Given the description of an element on the screen output the (x, y) to click on. 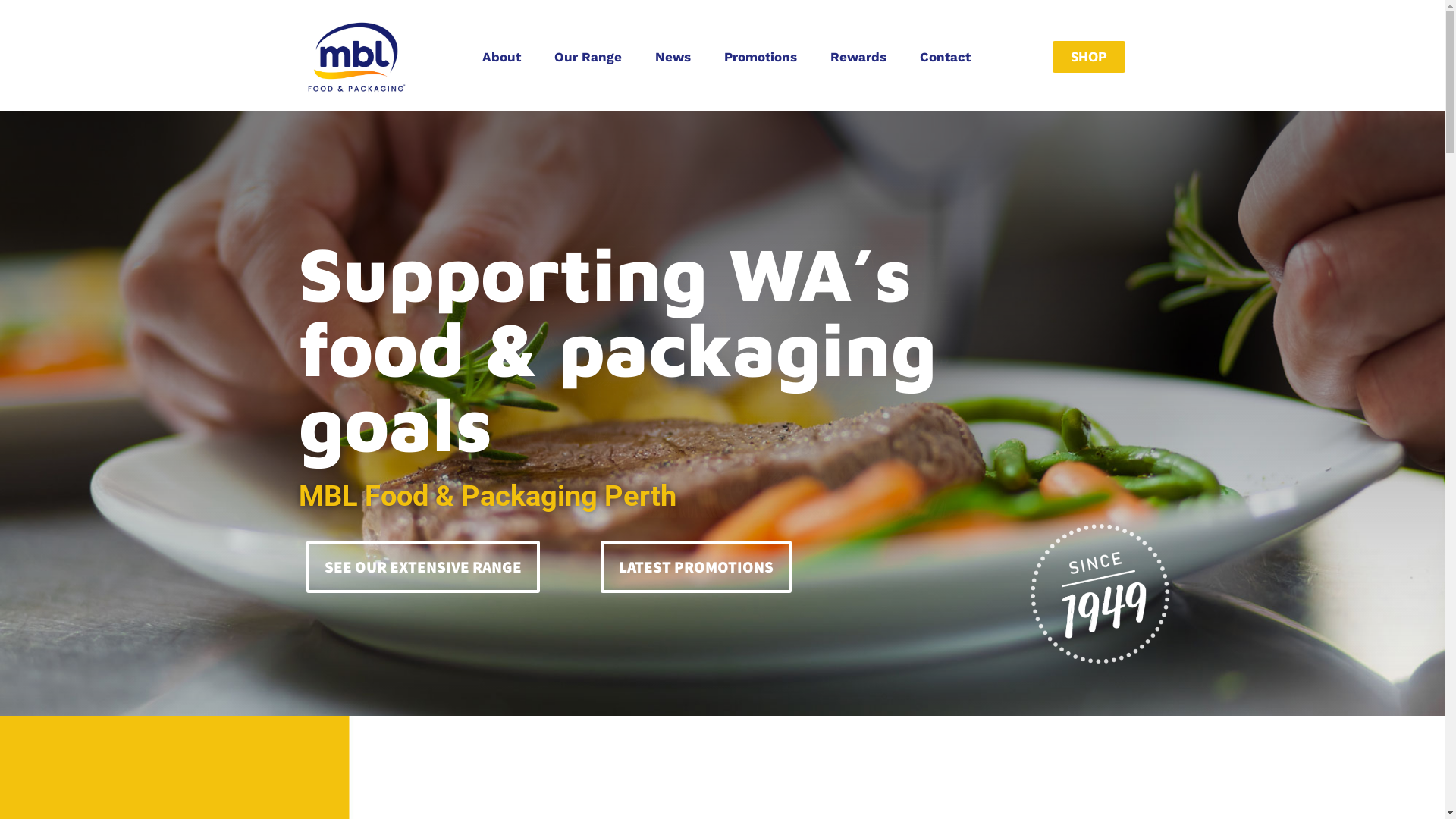
Promotions Element type: text (760, 56)
LATEST PROMOTIONS Element type: text (695, 566)
Contact Element type: text (944, 56)
About Element type: text (501, 56)
SHOP Element type: text (1088, 56)
News Element type: text (672, 56)
Rewards Element type: text (858, 56)
Our Range Element type: text (587, 56)
SEE OUR EXTENSIVE RANGE Element type: text (422, 566)
